Given the description of an element on the screen output the (x, y) to click on. 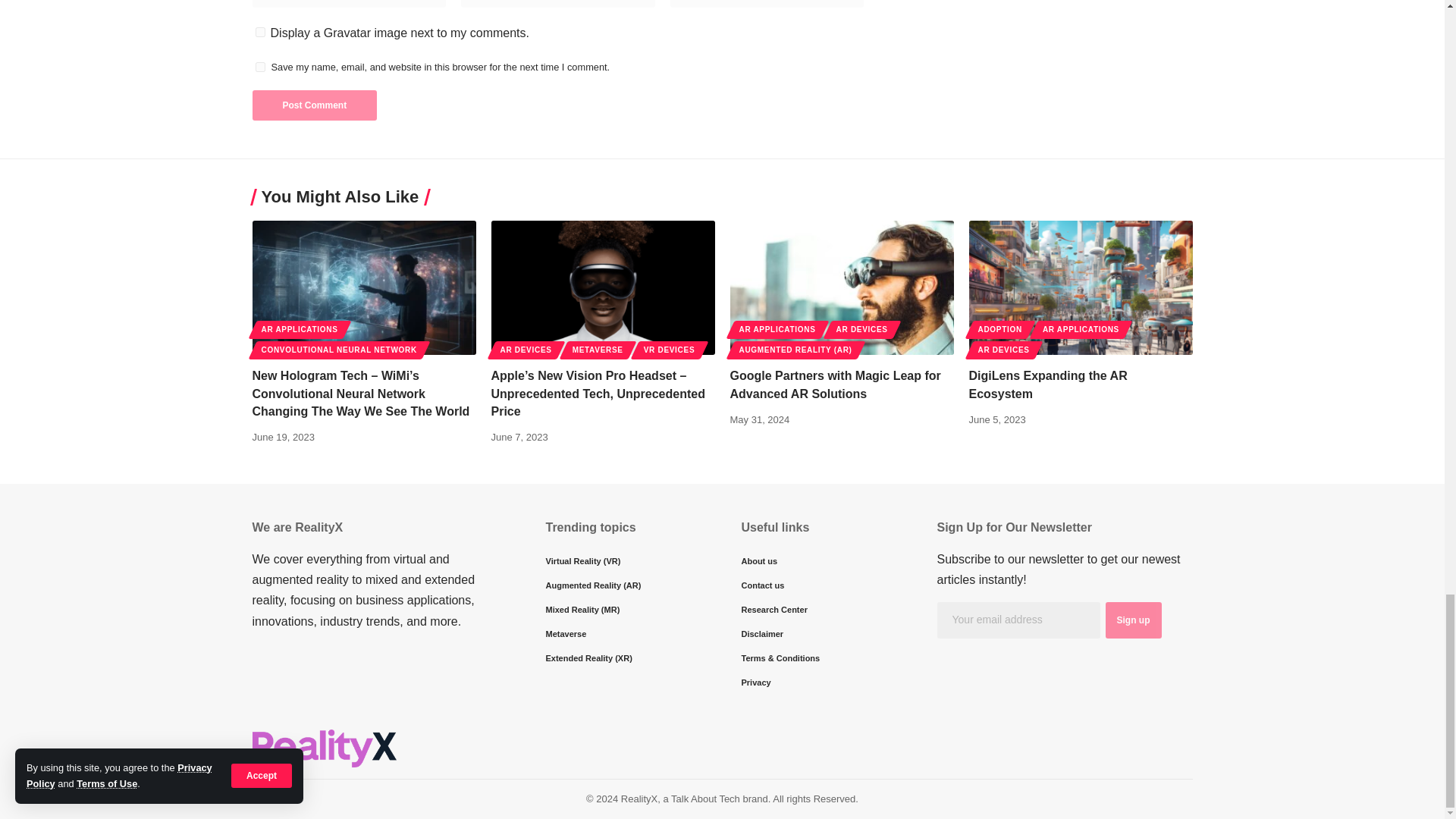
yes (259, 67)
DigiLens Expanding the AR Ecosystem (1080, 287)
true (259, 31)
Google Partners with Magic Leap for Advanced AR Solutions (841, 287)
Post Comment (314, 105)
Sign up (1133, 619)
Reality X (323, 748)
